Given the description of an element on the screen output the (x, y) to click on. 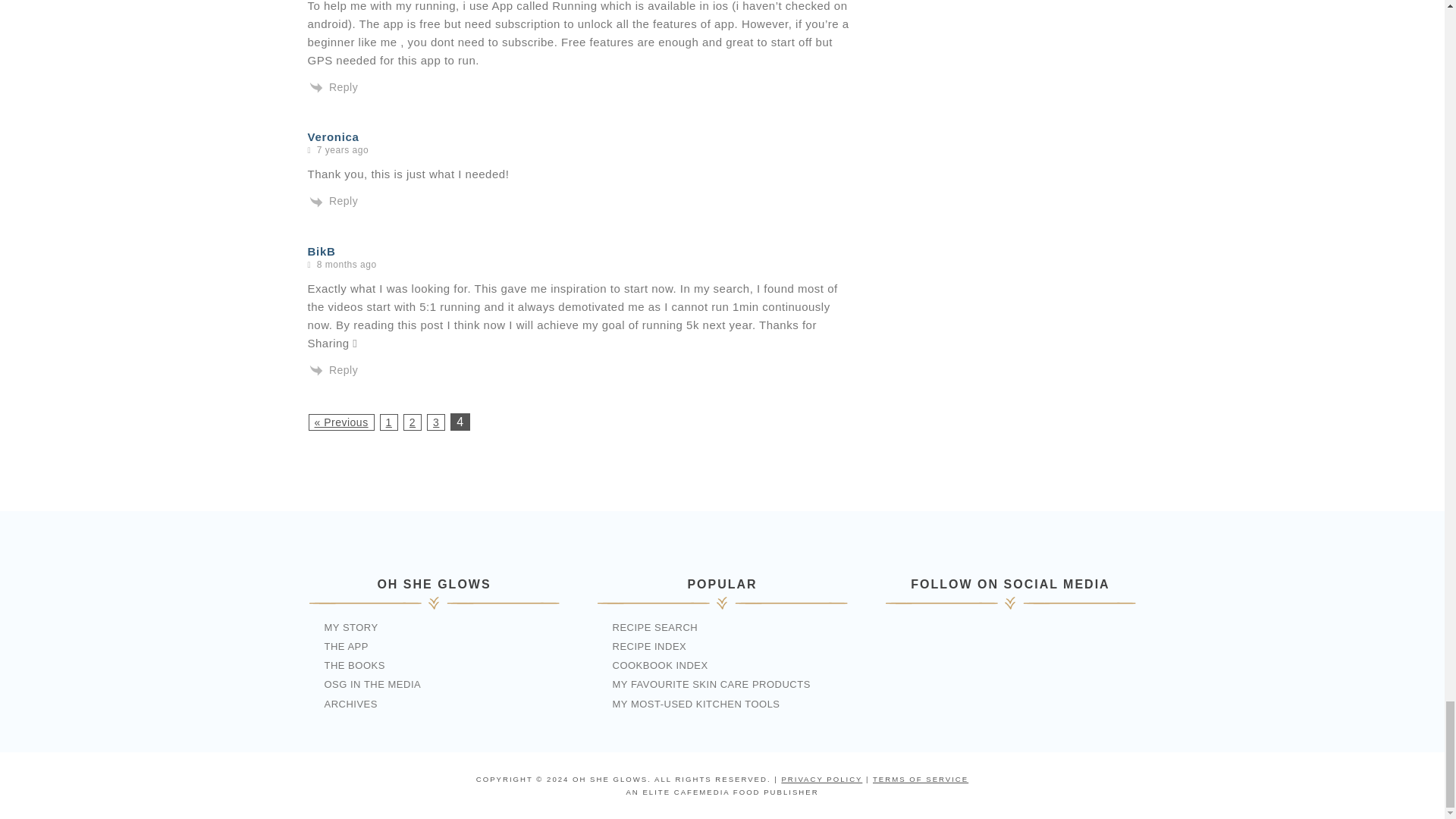
2 (412, 422)
1 (388, 422)
3 (435, 422)
